Given the description of an element on the screen output the (x, y) to click on. 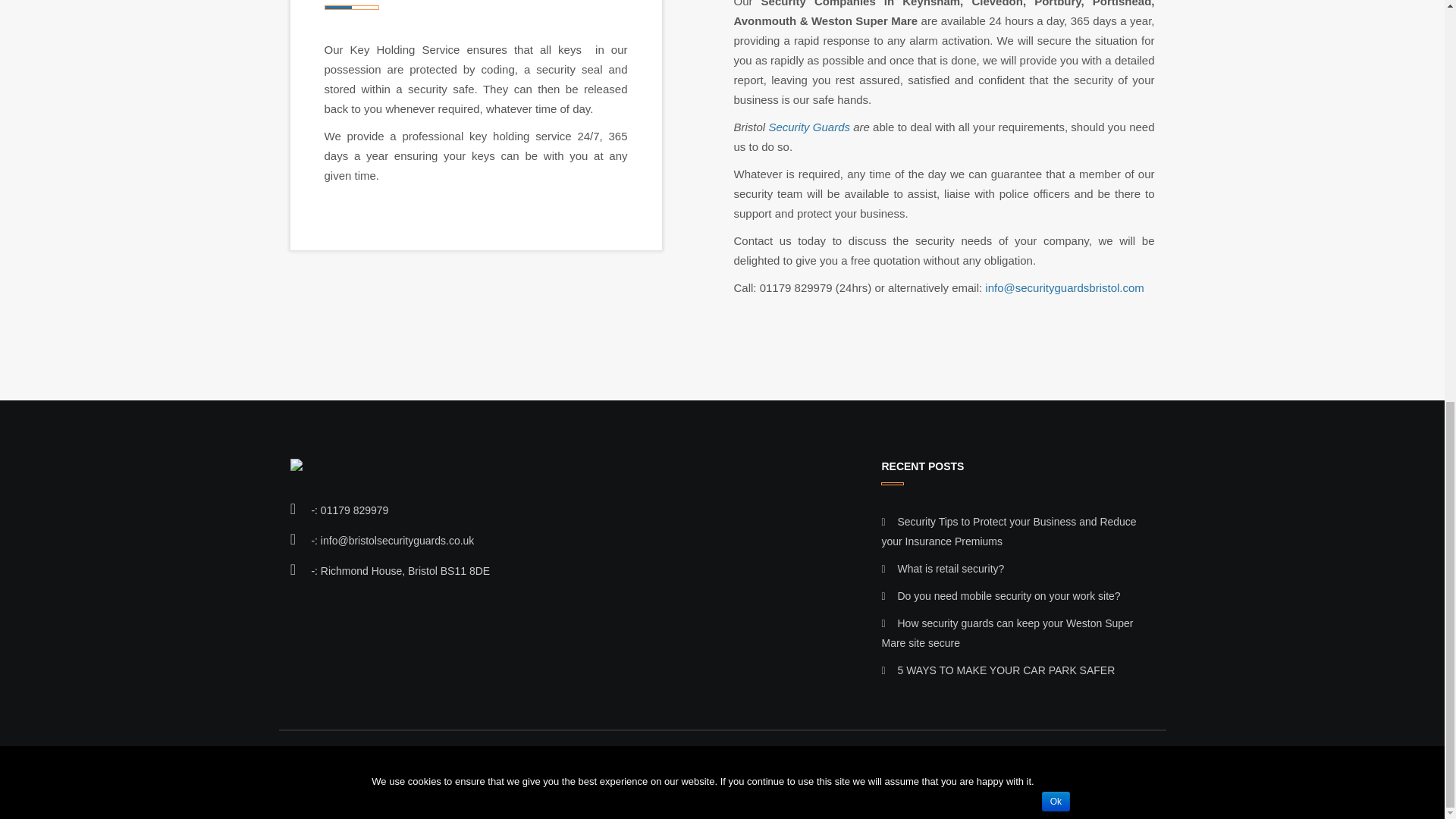
Do you need mobile security on your work site? (1007, 595)
01179 829979 (354, 510)
5 WAYS TO MAKE YOUR CAR PARK SAFER (1005, 670)
Ok (1056, 12)
Security Guards (807, 126)
What is retail security? (950, 568)
 Security Guards (807, 126)
